Given the description of an element on the screen output the (x, y) to click on. 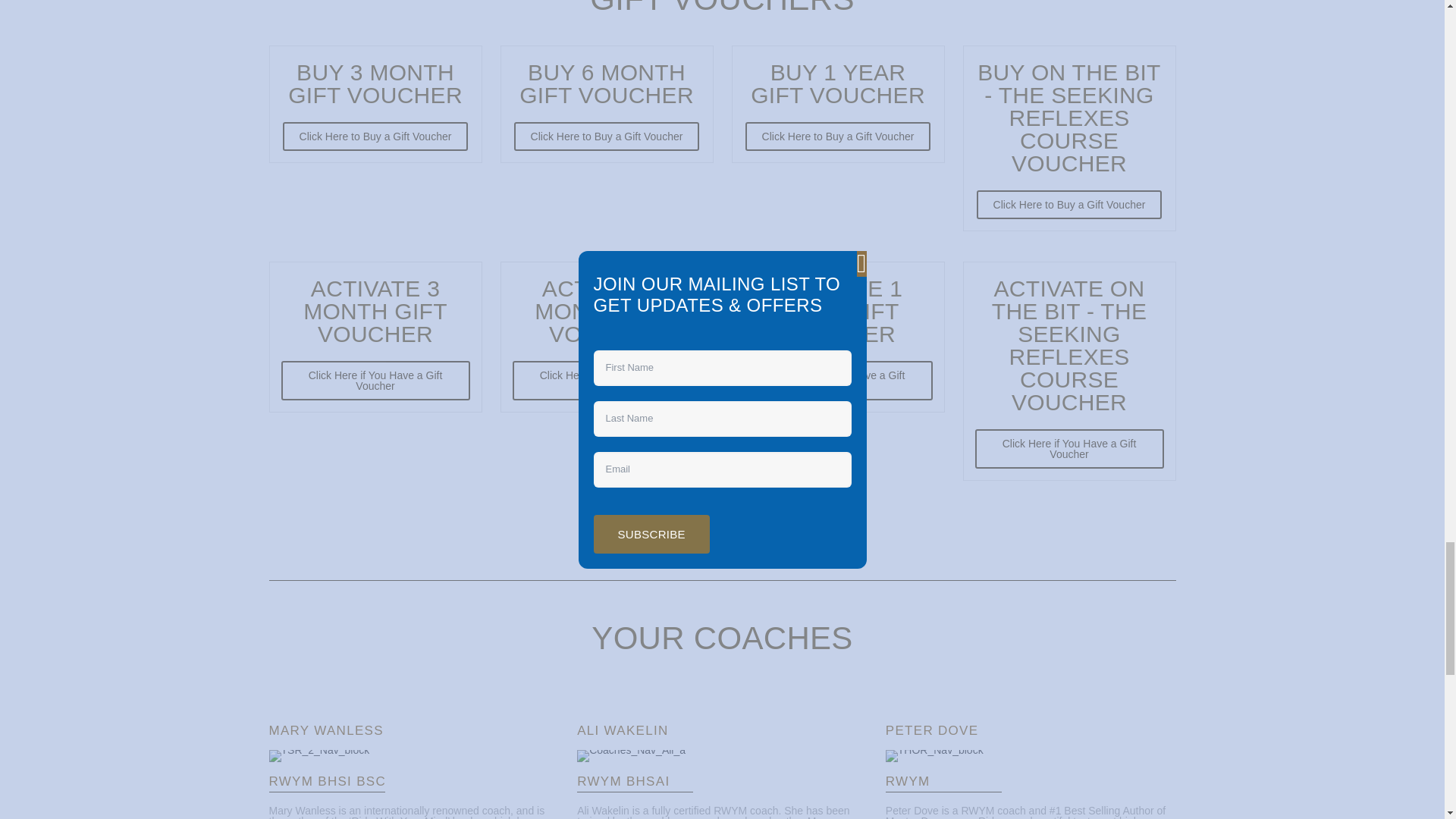
Click Here to Buy a Gift Voucher (838, 136)
Click Here to Buy a Gift Voucher (1068, 204)
Click Here if You Have a Gift Voucher (374, 380)
Click Here if You Have a Gift Voucher (374, 380)
Click Here to Buy a Gift Voucher (606, 136)
Click Here if You Have a Gift Voucher (606, 380)
Click Here to Buy a Gift Voucher (838, 136)
Click Here to Buy a Gift Voucher (375, 136)
Click Here to Buy a Gift Voucher (375, 136)
Click Here to Buy a Gift Voucher (606, 136)
Click Here if You Have a Gift Voucher (836, 380)
Click Here to Buy a Gift Voucher (1068, 204)
